Given the description of an element on the screen output the (x, y) to click on. 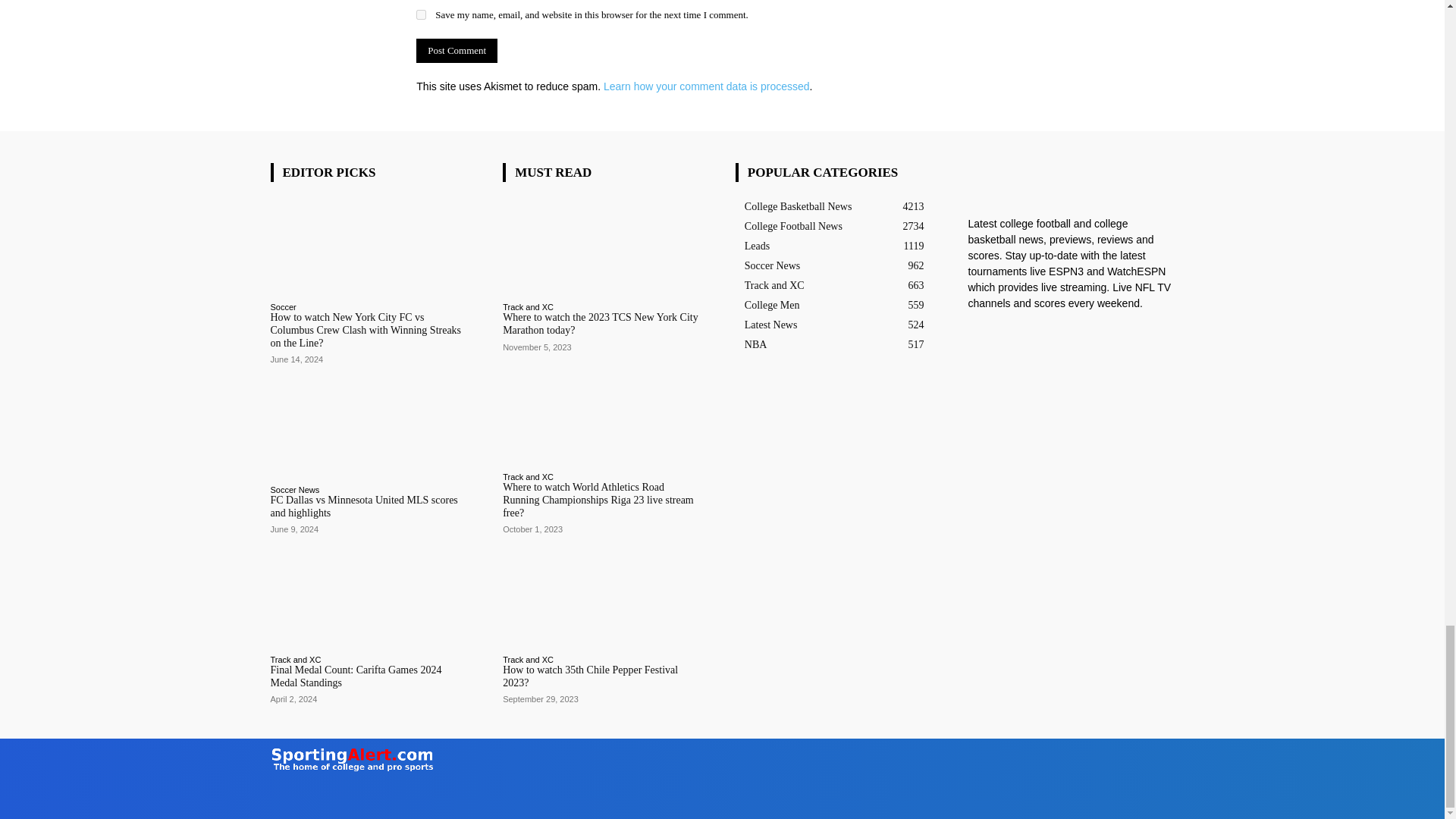
yes (421, 14)
Post Comment (456, 50)
